Given the description of an element on the screen output the (x, y) to click on. 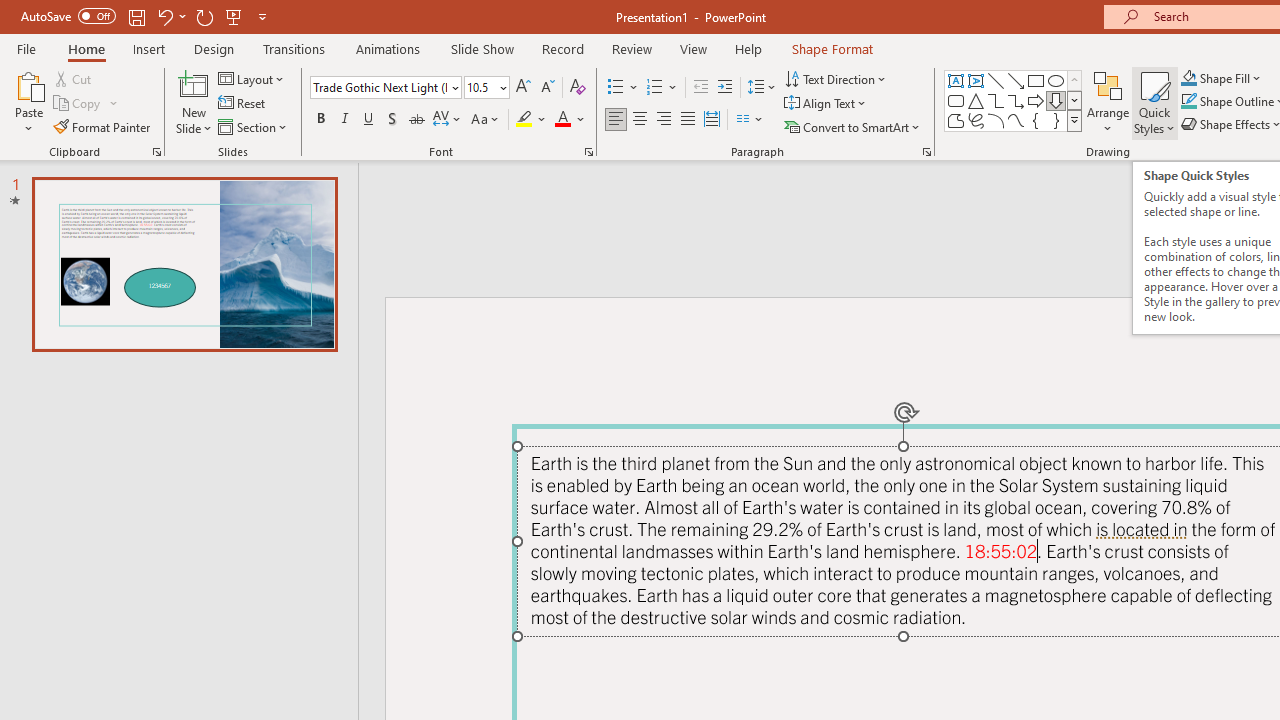
Text Direction (836, 78)
Strikethrough (416, 119)
Arrange (1108, 102)
Line Spacing (762, 87)
Section (254, 126)
Rectangle: Rounded Corners (955, 100)
Layout (252, 78)
Line Arrow (1016, 80)
Rectangle (1035, 80)
Convert to SmartArt (853, 126)
Shapes (1074, 120)
Arrow: Right (1035, 100)
